Given the description of an element on the screen output the (x, y) to click on. 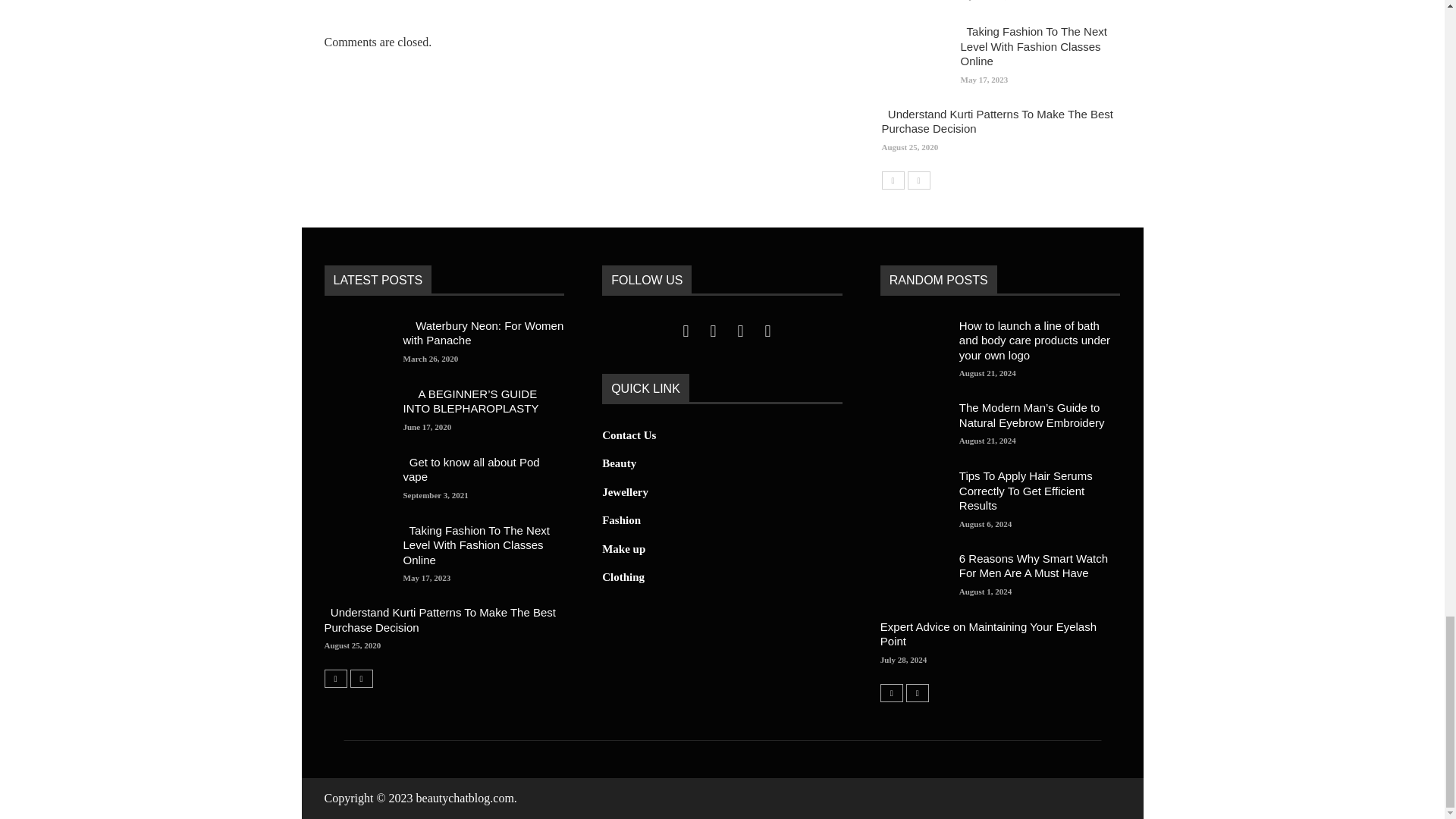
Previous (892, 179)
Next (918, 179)
Previous (891, 692)
Next (361, 678)
Next (916, 692)
Previous (335, 678)
